Given the description of an element on the screen output the (x, y) to click on. 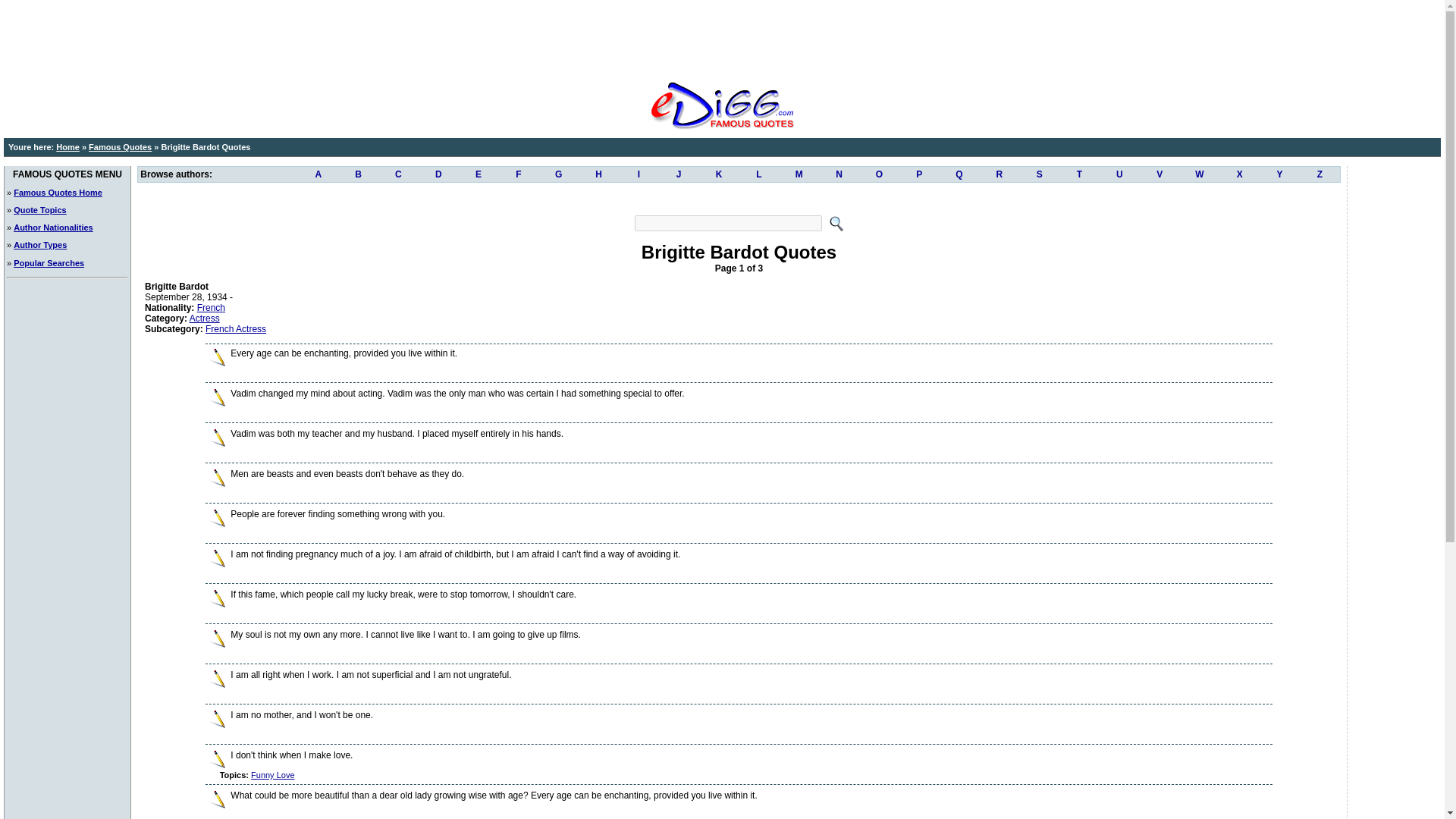
Author Nationalities (53, 226)
N (838, 174)
U (1119, 174)
French (210, 307)
P (919, 174)
G (558, 174)
Funny Love (272, 774)
Advertisement (721, 38)
Actress (204, 317)
R (998, 174)
Advertisement (737, 197)
I (638, 174)
Search (727, 222)
C (398, 174)
J (678, 174)
